Given the description of an element on the screen output the (x, y) to click on. 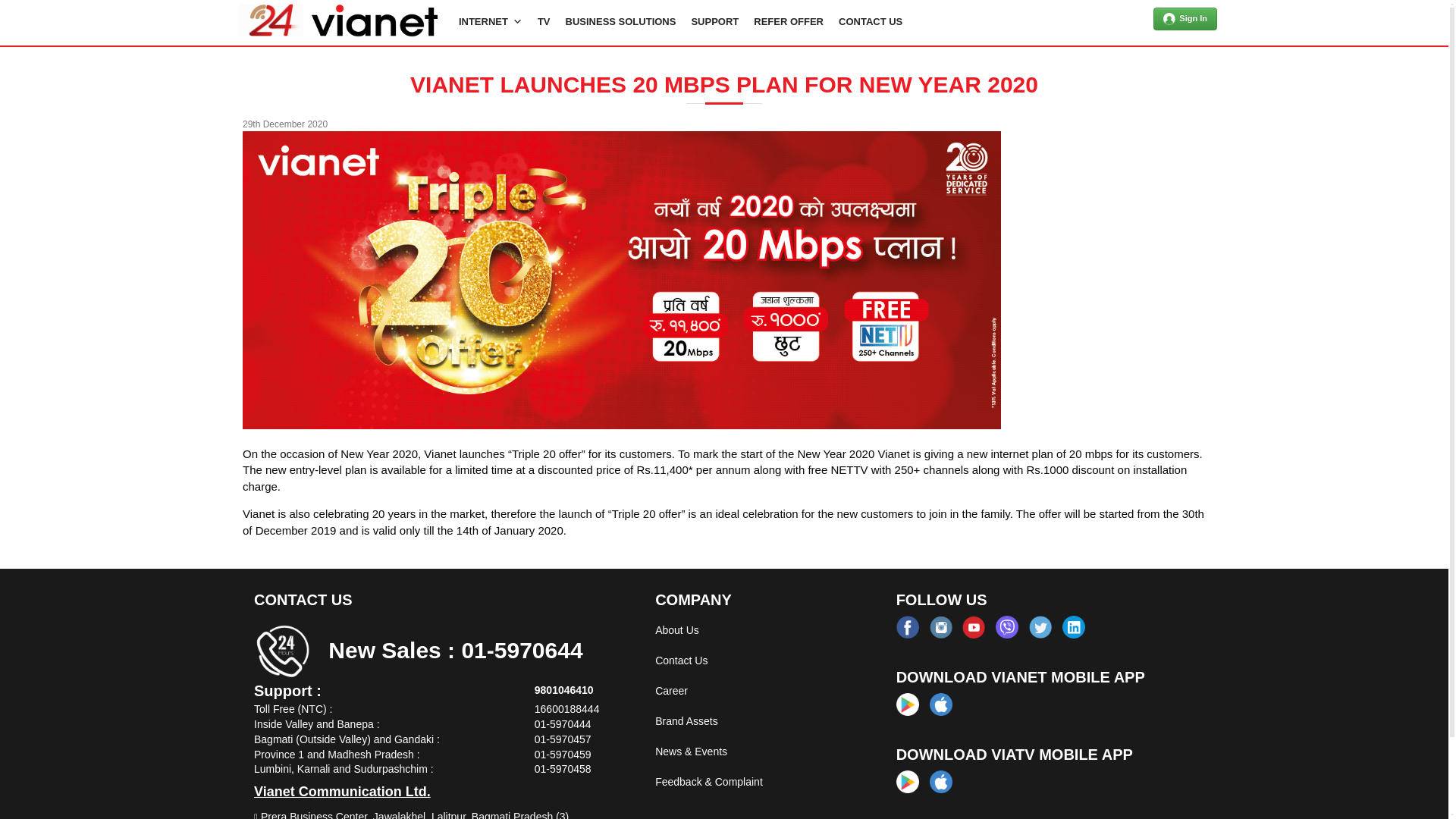
Career (671, 690)
CONTACT US (869, 19)
REFER OFFER (788, 19)
SUPPORT (714, 19)
01-5970444 (562, 724)
About Us (676, 630)
01-5970458 (562, 768)
Brand Assets (686, 720)
Sign In (1185, 18)
01-5970457 (562, 739)
